Given the description of an element on the screen output the (x, y) to click on. 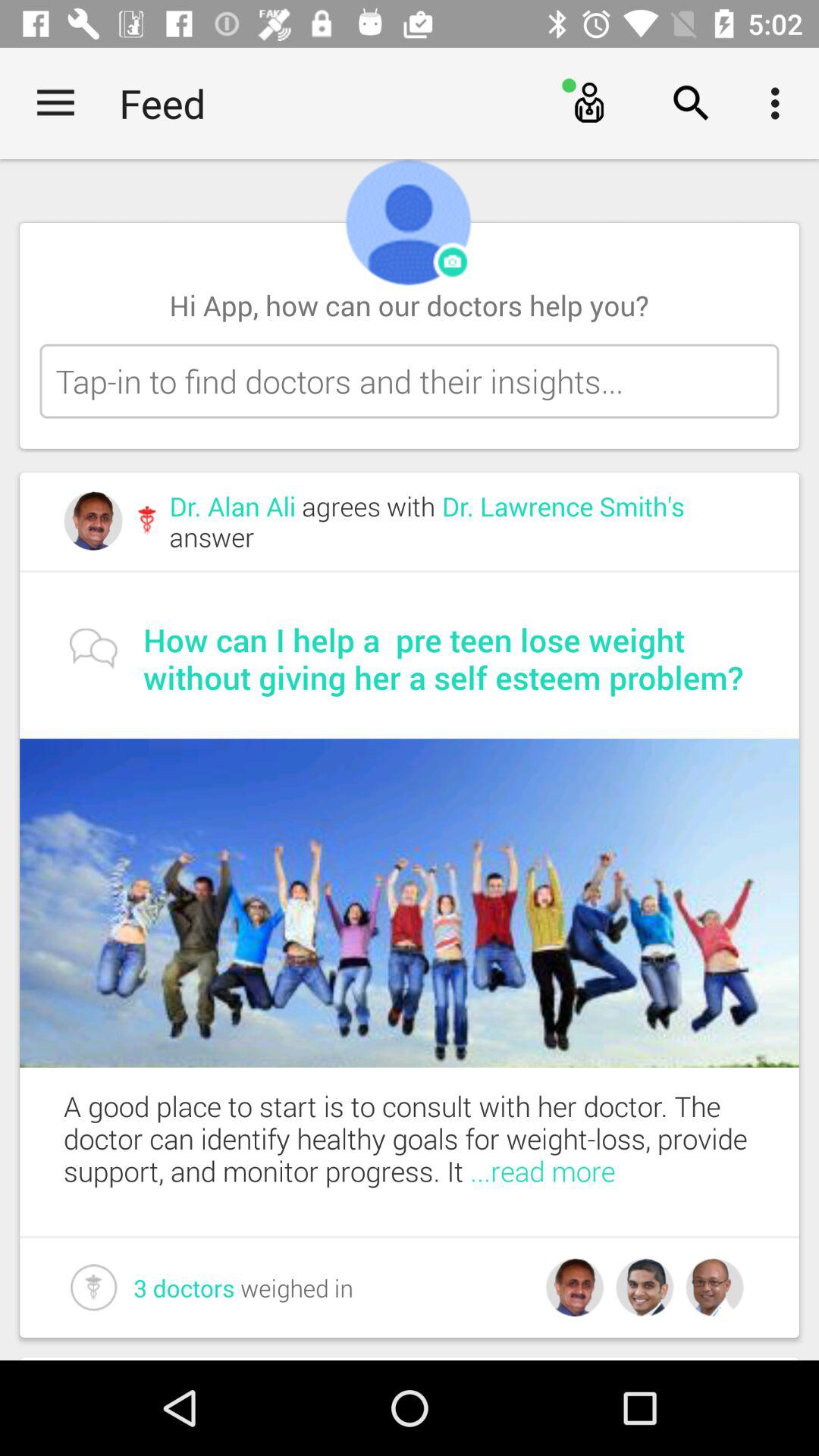
find doctors (409, 381)
